Given the description of an element on the screen output the (x, y) to click on. 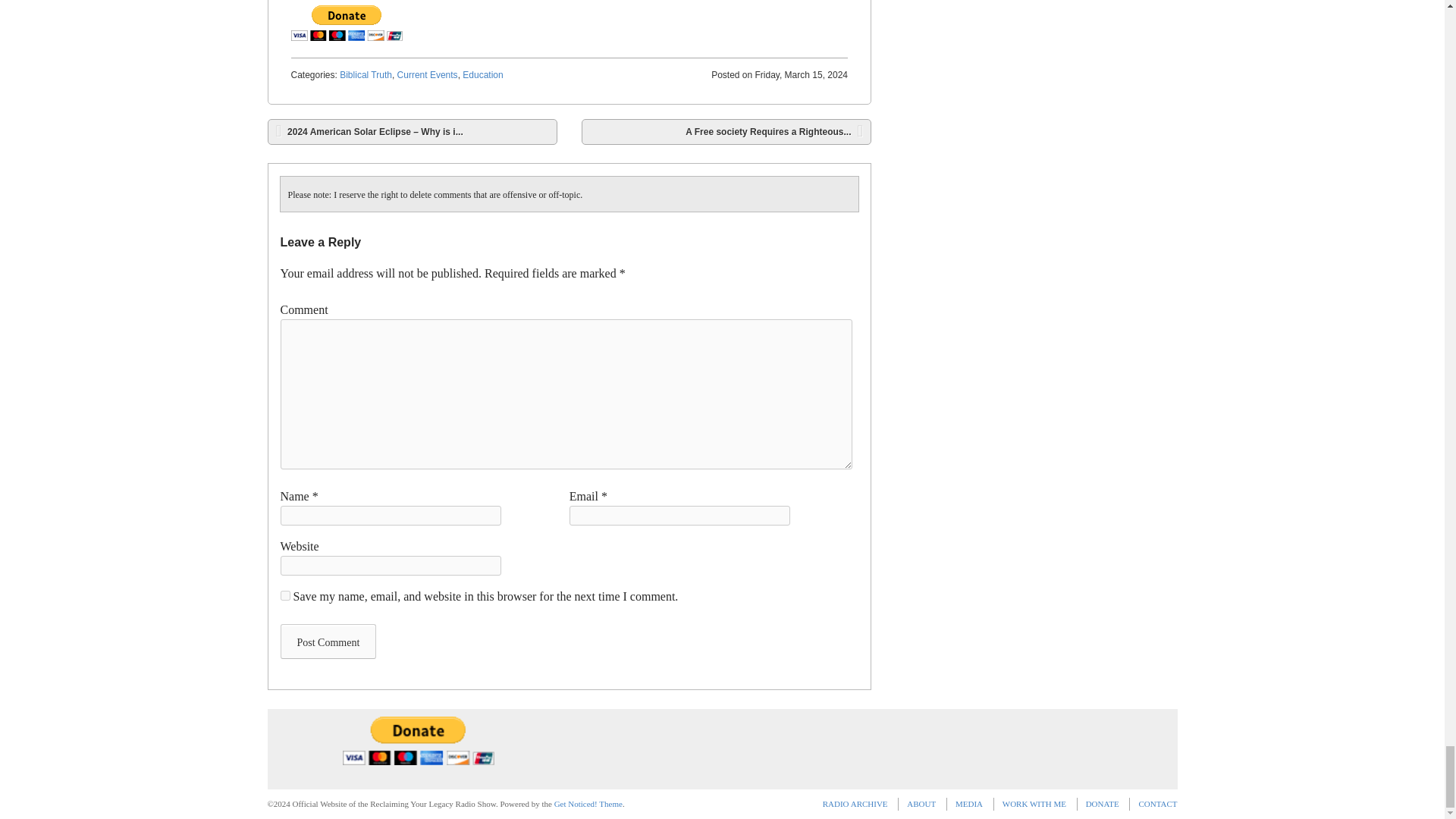
Post Comment (329, 641)
yes (285, 595)
